Given the description of an element on the screen output the (x, y) to click on. 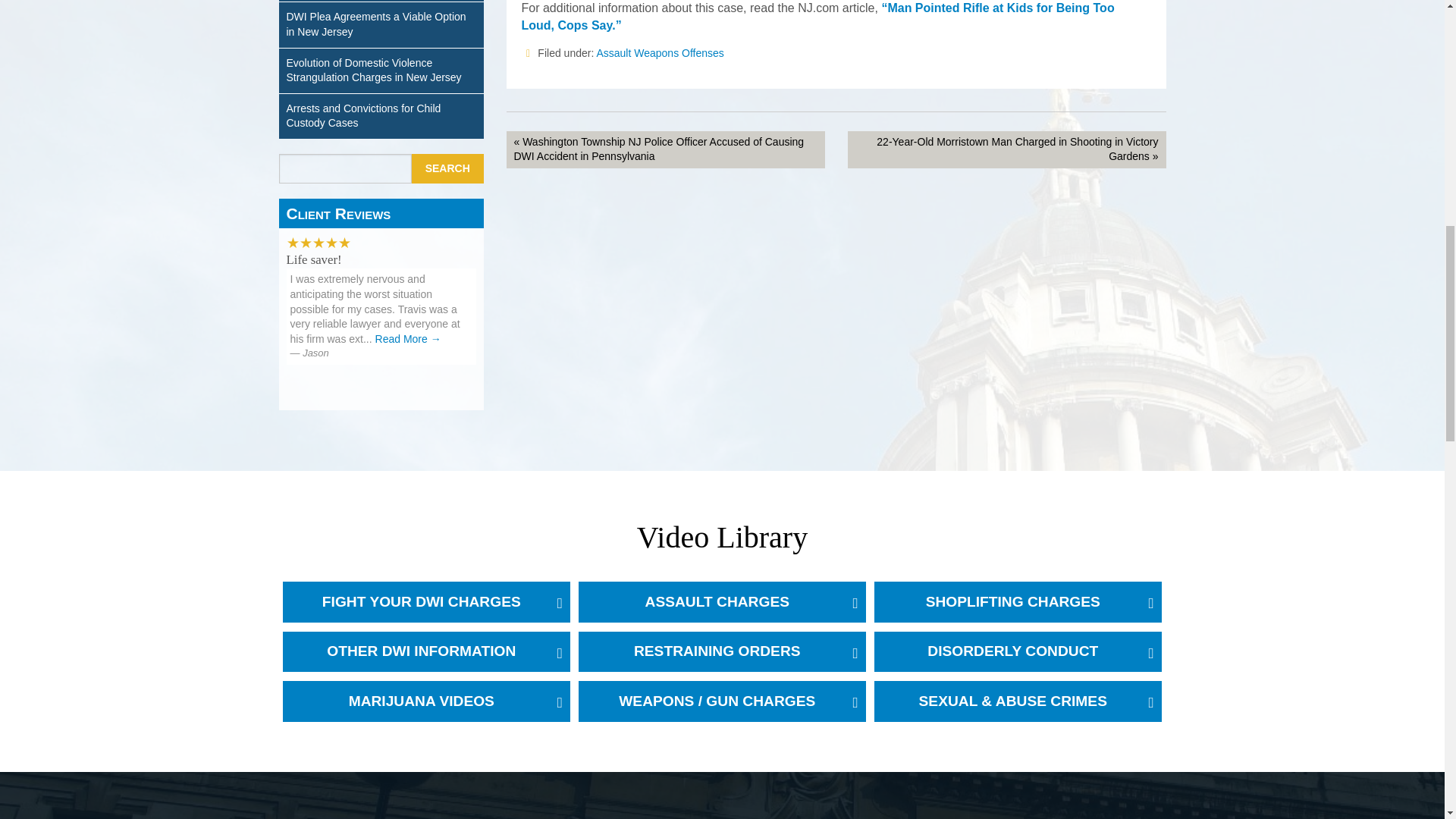
Weapons Offenses (678, 52)
Assault (612, 52)
Search (447, 168)
